Given the description of an element on the screen output the (x, y) to click on. 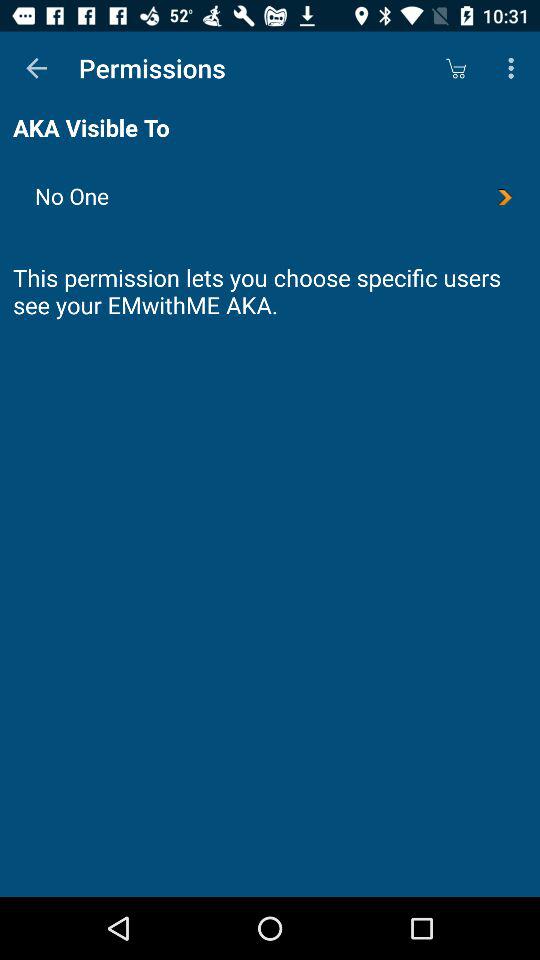
tap app to the right of the permissions item (455, 67)
